Given the description of an element on the screen output the (x, y) to click on. 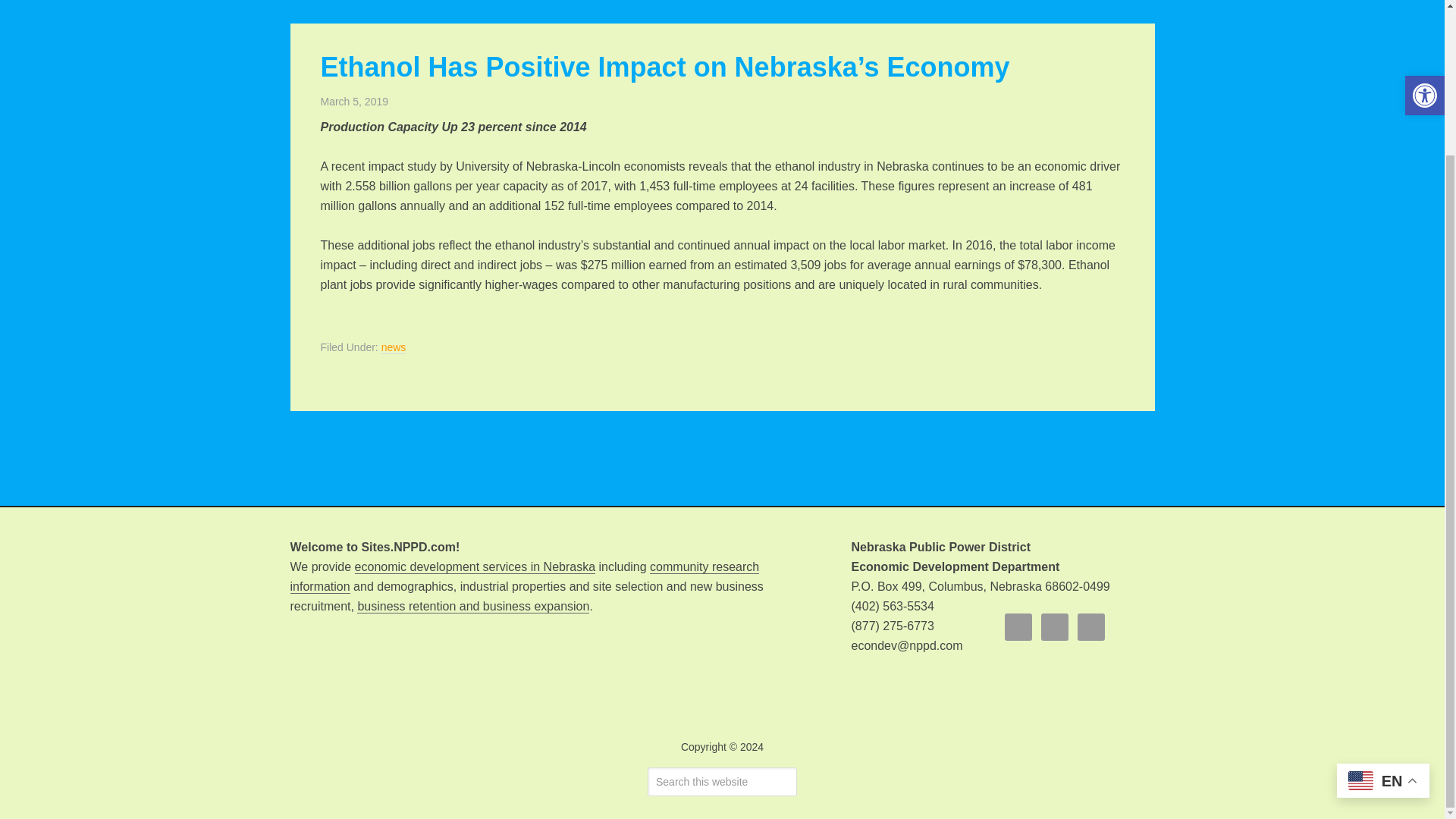
economic development services in Nebraska (475, 567)
news (393, 347)
community research information (523, 576)
business retention and business expansion (472, 606)
